Given the description of an element on the screen output the (x, y) to click on. 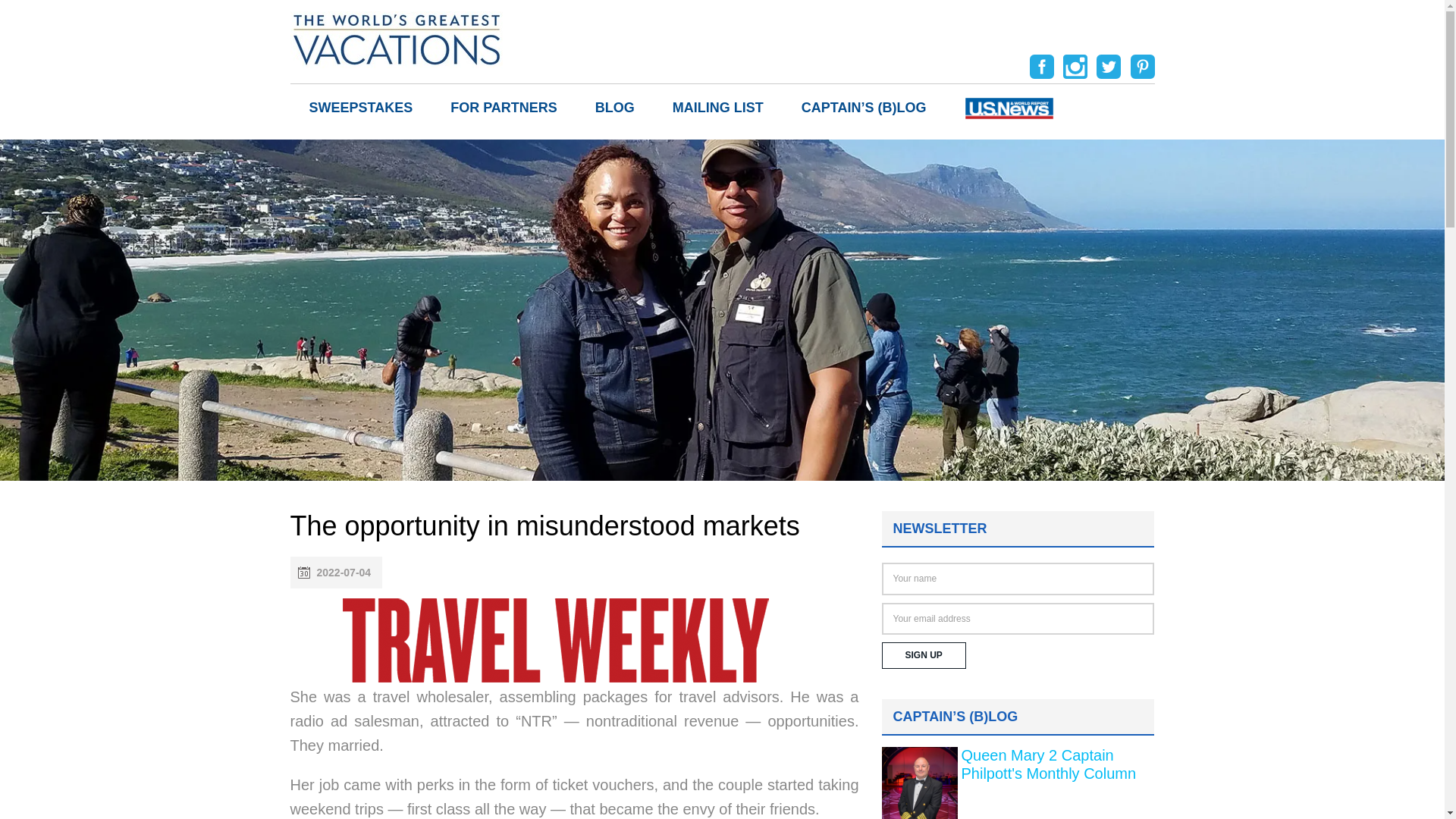
SWEEPSTAKES (359, 107)
FOR PARTNERS (503, 107)
BLOG (614, 107)
The World's Greatest Vacations (395, 38)
Sign up (922, 655)
Queen Mary 2 Captain Philpott's Monthly Column (1048, 764)
Sign up (922, 655)
MAILING LIST (718, 107)
